Given the description of an element on the screen output the (x, y) to click on. 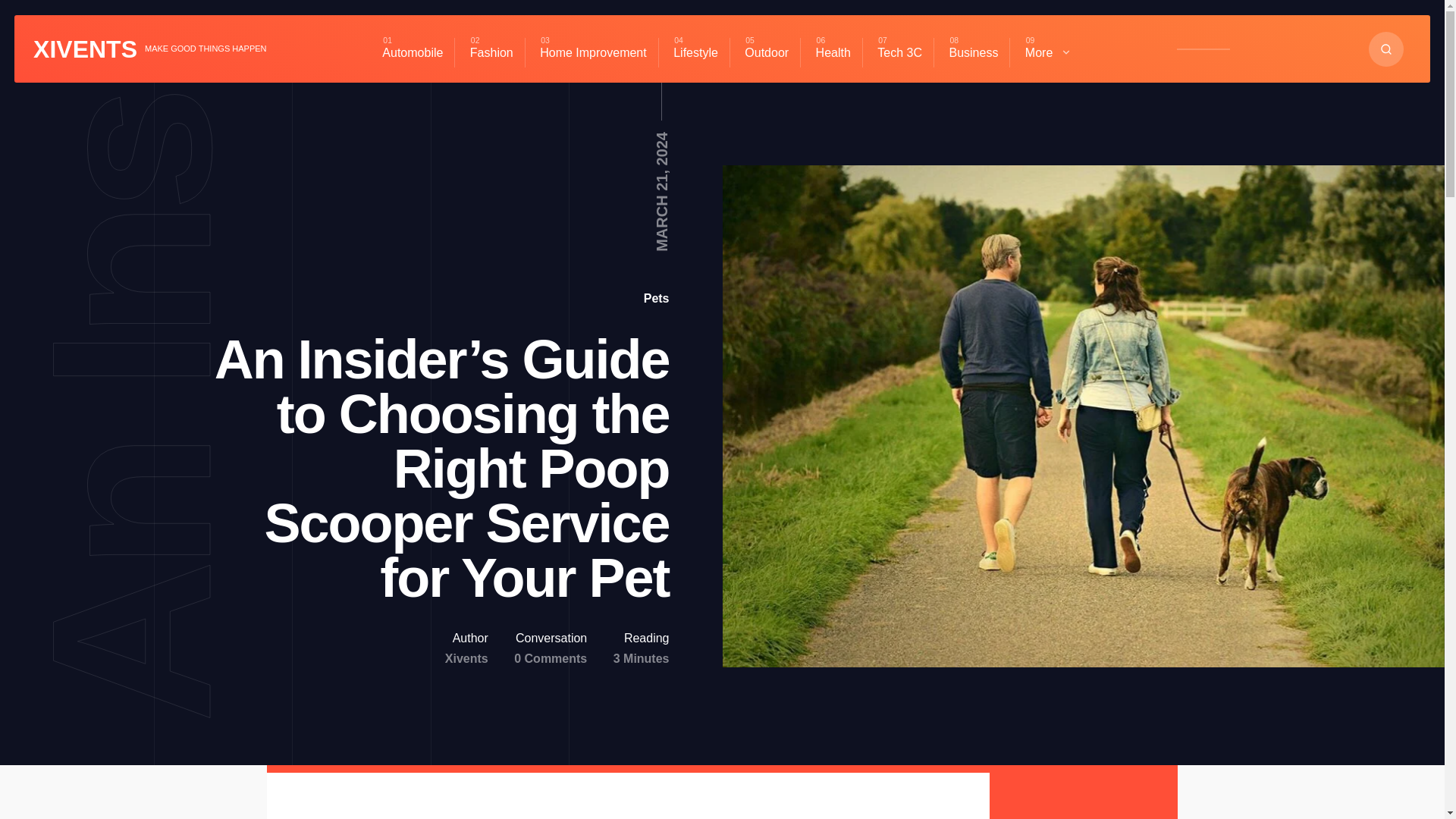
Tech 3C (899, 52)
Home Improvement (593, 52)
Automobile (412, 52)
Business (973, 52)
Pets (656, 297)
Outdoor (766, 52)
More (1048, 52)
Health (833, 52)
Lifestyle (695, 52)
XIVENTS (84, 49)
Fashion (491, 52)
Xivents (466, 658)
0 Comments (549, 658)
